Given the description of an element on the screen output the (x, y) to click on. 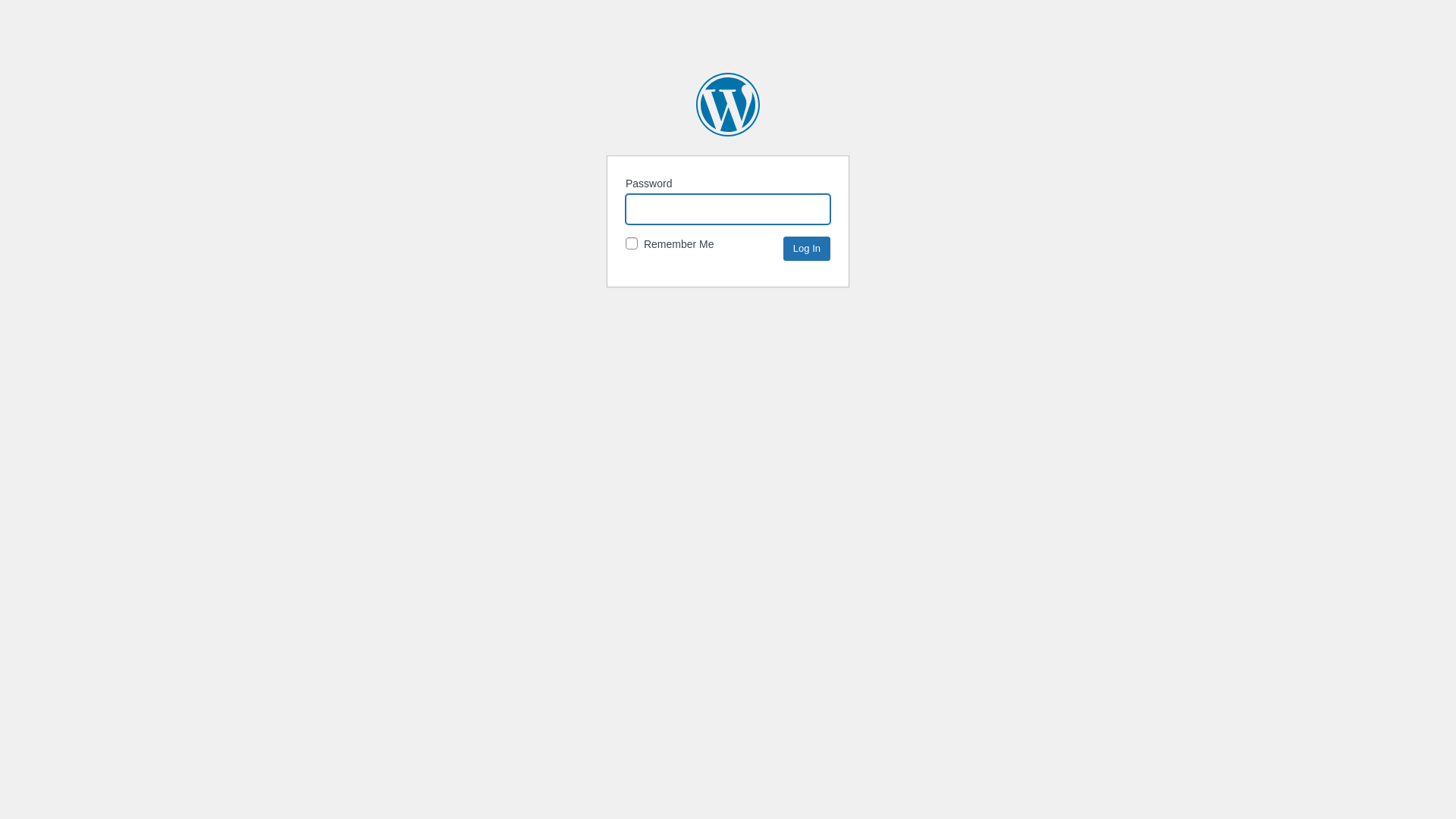
9to5 dev 2023 Element type: text (727, 104)
Log In Element type: text (806, 248)
